Given the description of an element on the screen output the (x, y) to click on. 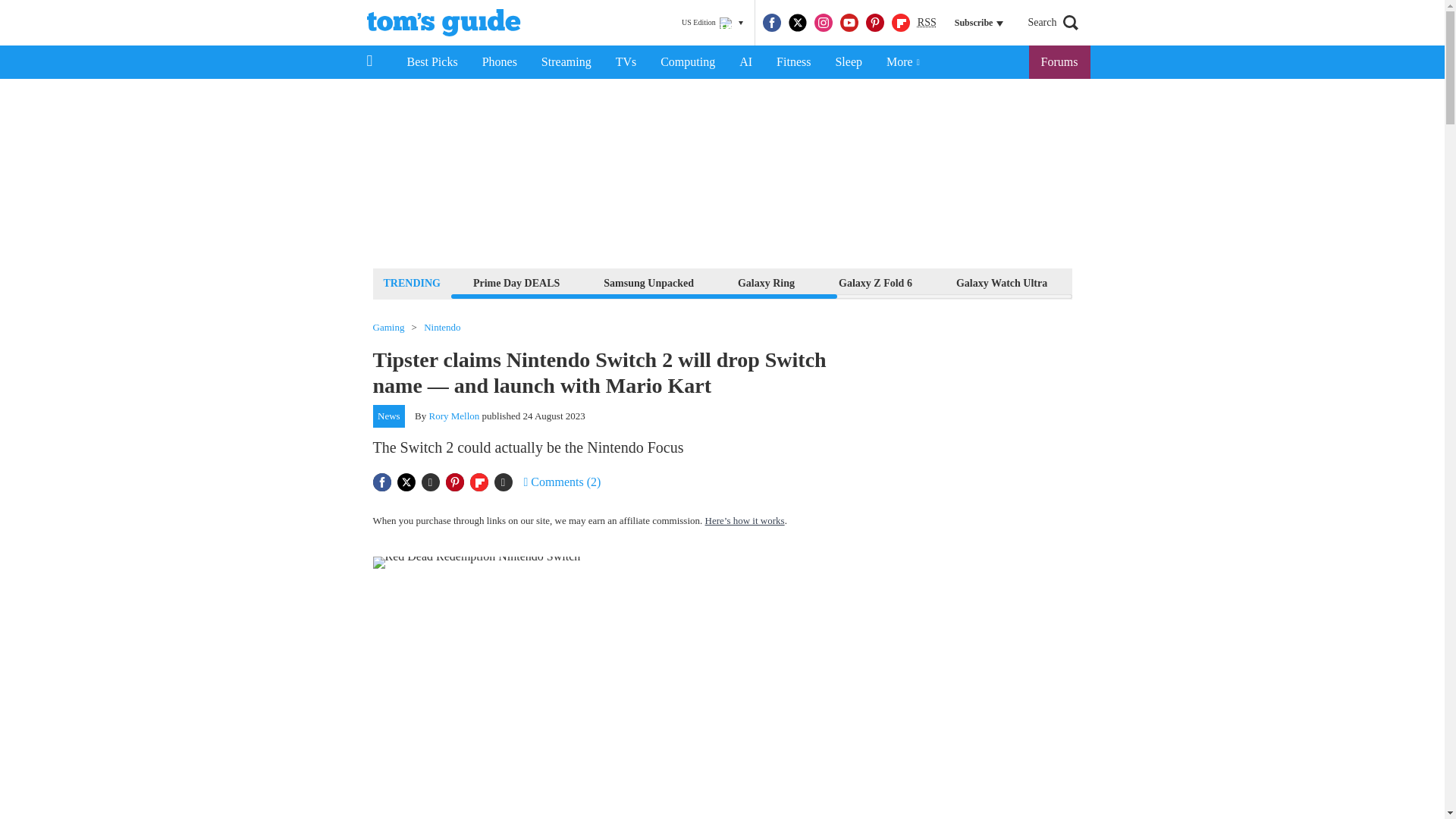
AI (745, 61)
RSS (926, 22)
US Edition (712, 22)
Streaming (566, 61)
Really Simple Syndication (926, 21)
Fitness (793, 61)
Sleep (848, 61)
Best Picks (431, 61)
TVs (626, 61)
Phones (499, 61)
Computing (686, 61)
